Given the description of an element on the screen output the (x, y) to click on. 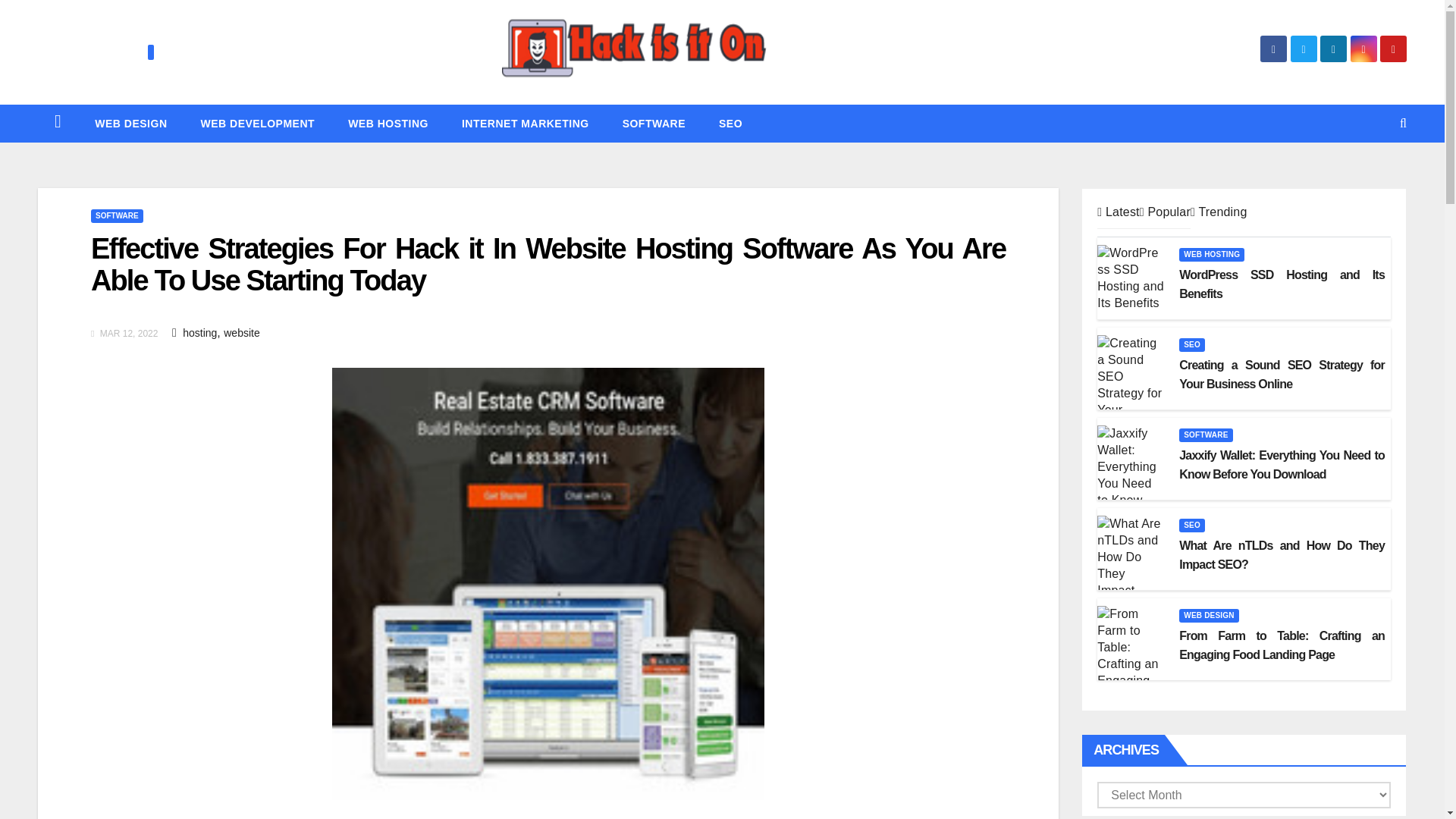
SEO (729, 123)
WEB DESIGN (130, 123)
hosting (199, 332)
Web Design (130, 123)
website (241, 332)
SEO (729, 123)
Web Development (257, 123)
Software (653, 123)
